Given the description of an element on the screen output the (x, y) to click on. 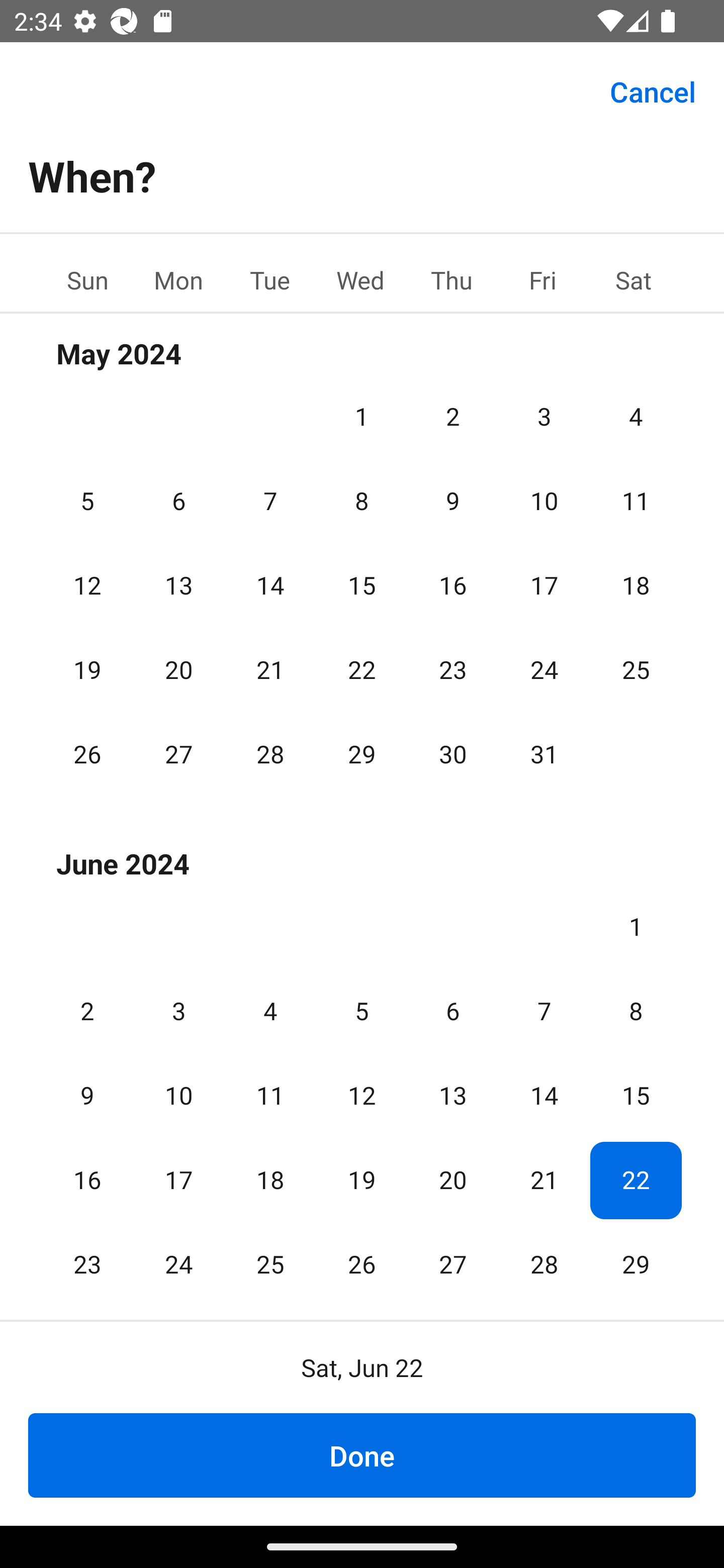
Cancel (652, 90)
Done (361, 1454)
